Given the description of an element on the screen output the (x, y) to click on. 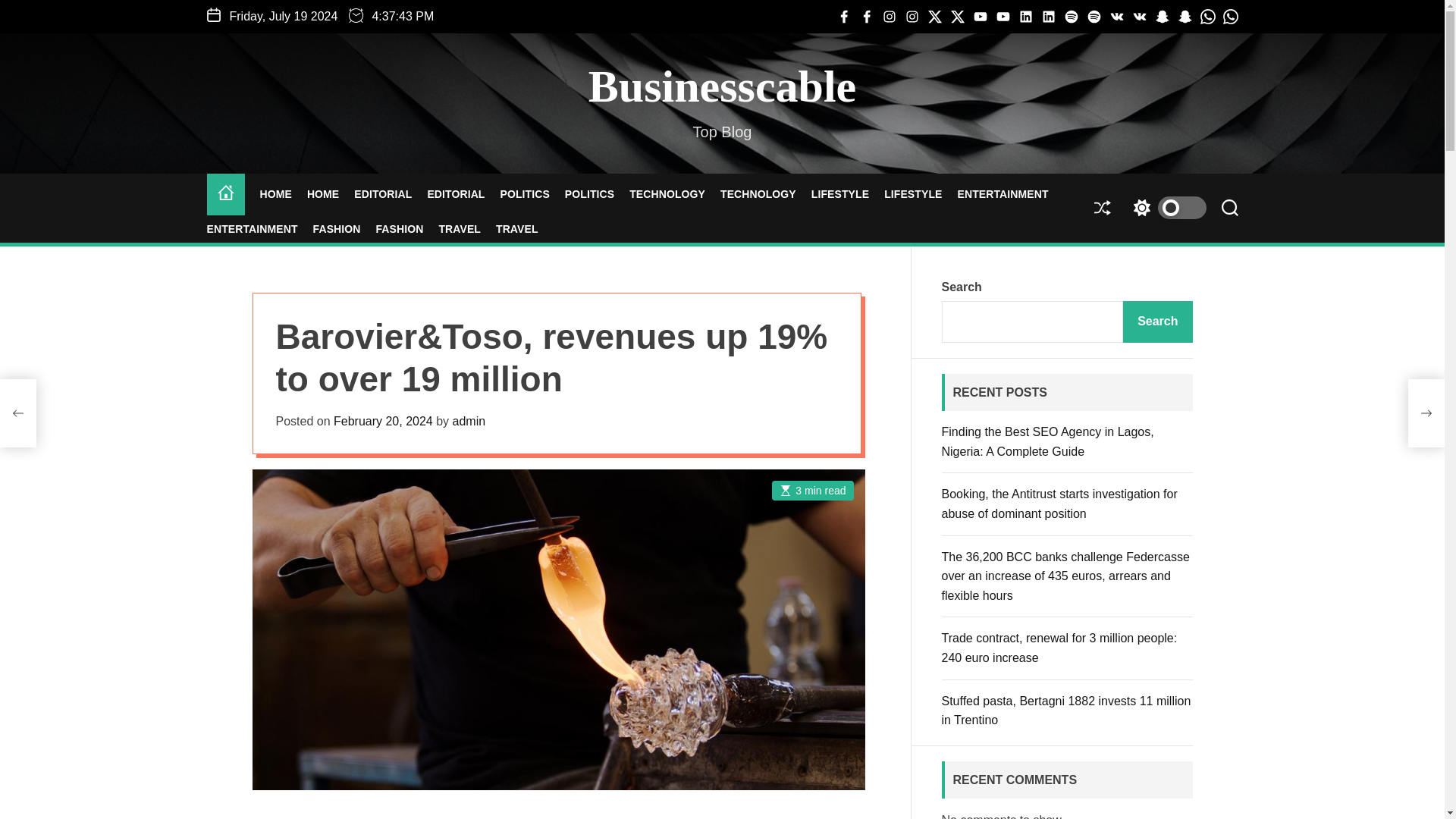
ENTERTAINMENT (251, 229)
HOME (323, 194)
Snapchat (1184, 16)
Businesscable (722, 85)
Spotify (1093, 16)
Facebook (866, 16)
LIFESTYLE (912, 194)
Twitter (934, 16)
TRAVEL (459, 229)
LIFESTYLE (839, 194)
HOME (275, 194)
Whatsapp (1206, 16)
Linkedin (1024, 16)
Spotify (1070, 16)
Instagram (911, 16)
